Given the description of an element on the screen output the (x, y) to click on. 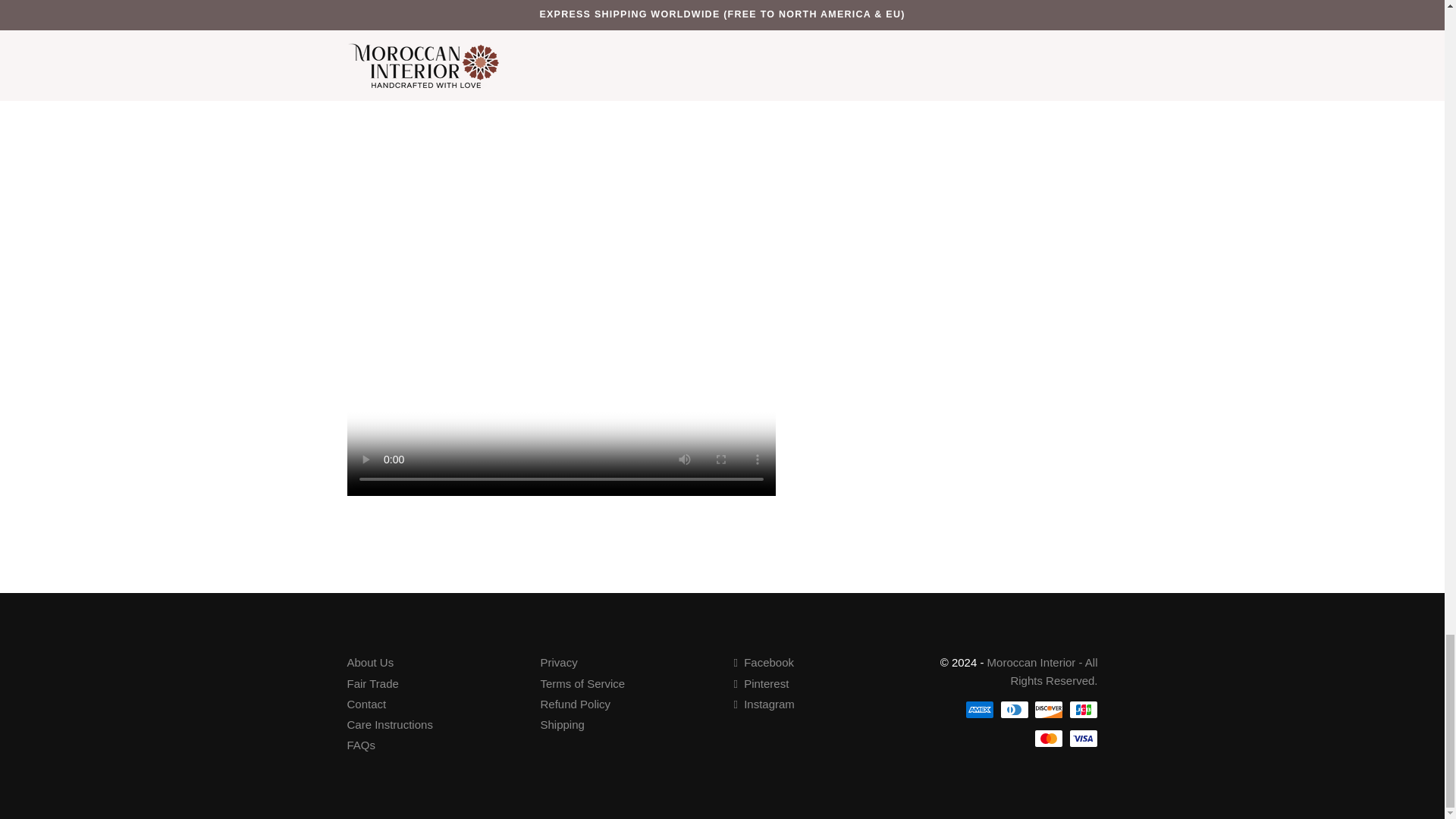
Moroccan Interior on Pinterest (761, 683)
Moroccan Interior on Facebook (763, 662)
Mastercard (1047, 738)
JCB (1082, 710)
Moroccan Interior on Instagram (763, 703)
American Express (979, 710)
Diners Club (1012, 710)
Discover (1047, 710)
Visa (1082, 738)
